Given the description of an element on the screen output the (x, y) to click on. 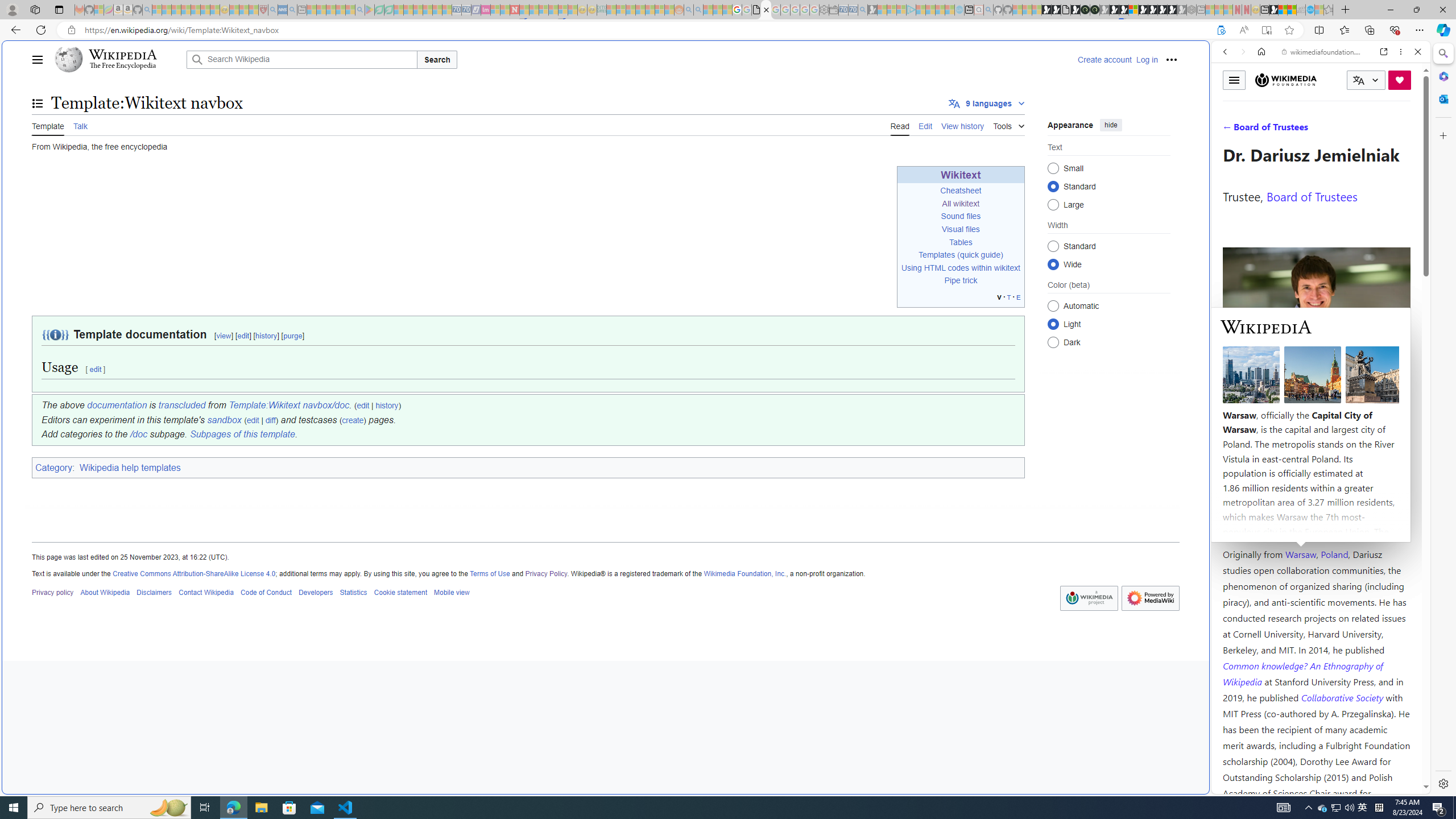
documentation (117, 405)
Support Wikipedia? (1220, 29)
Code of Conduct (265, 591)
Wikitext (960, 174)
Wikimedia Foundation (1286, 79)
Earth has six continents not seven, radical new study claims (1291, 9)
sandbox (223, 419)
Tools (1008, 124)
